Given the description of an element on the screen output the (x, y) to click on. 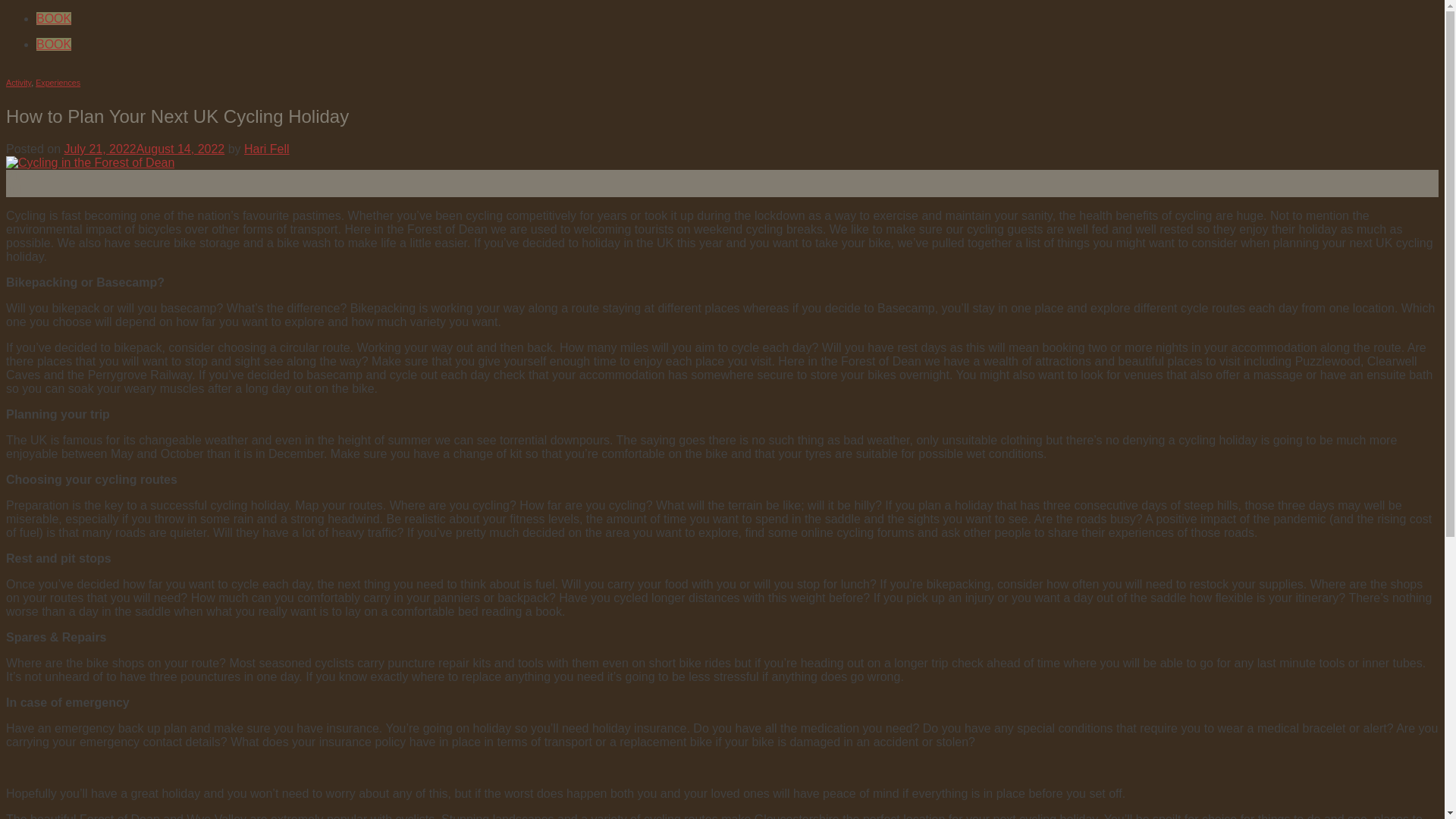
BOOK (53, 43)
Hari Fell (266, 148)
Activity (17, 81)
BOOK (53, 18)
July 21, 2022August 14, 2022 (144, 148)
Experiences (57, 81)
